Given the description of an element on the screen output the (x, y) to click on. 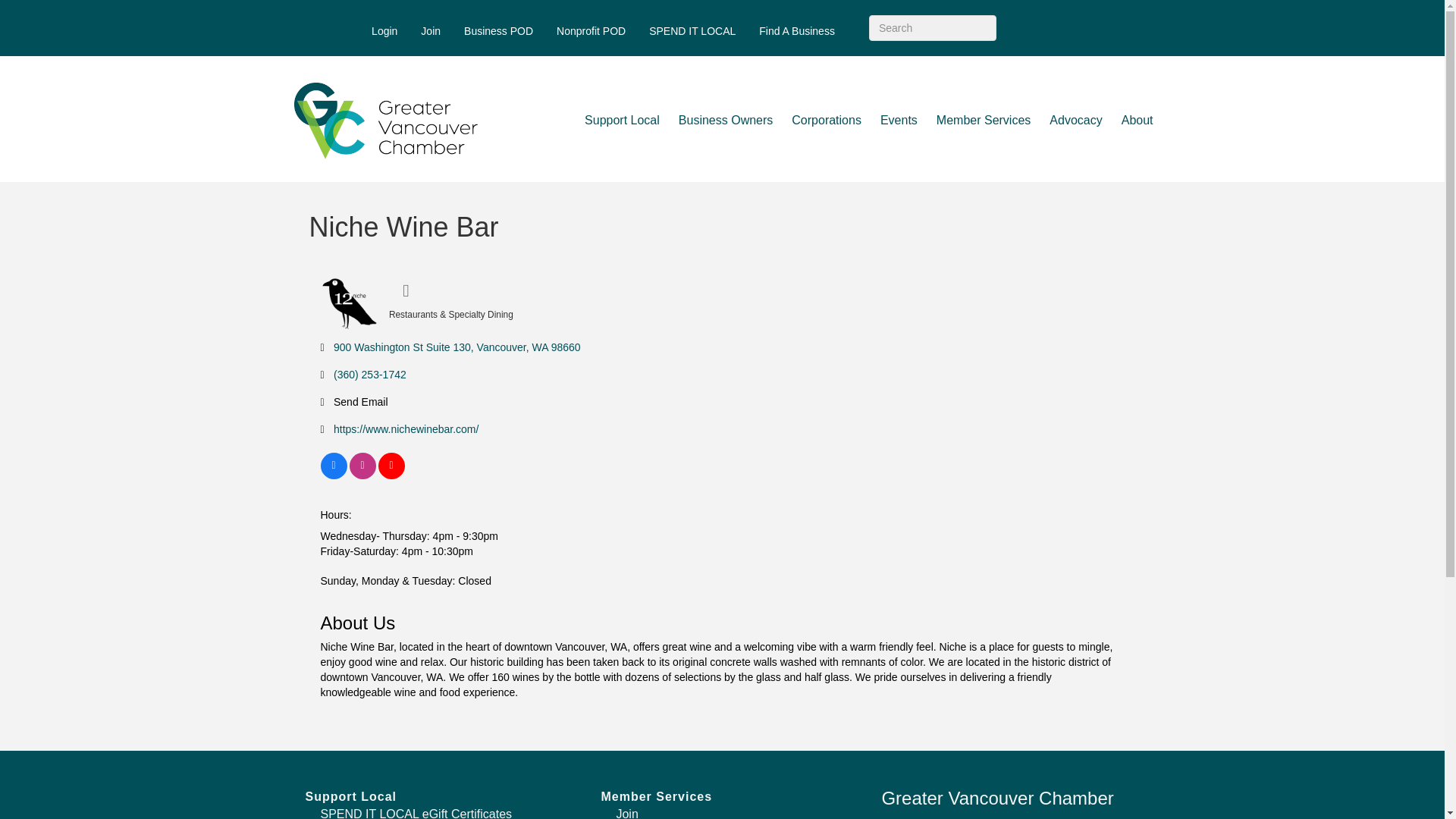
Type and press Enter to search. (932, 27)
Business POD (498, 31)
Corporations (826, 120)
SPEND IT LOCAL (691, 31)
Niche Wine Bar (348, 303)
Join (430, 31)
Support Local (621, 120)
Login (384, 31)
View on Facebook (333, 475)
Business Owners (726, 120)
Find A Business (796, 31)
View on YouTube (390, 475)
Events (898, 120)
View on Instagram (362, 475)
Nonprofit POD (590, 31)
